Given the description of an element on the screen output the (x, y) to click on. 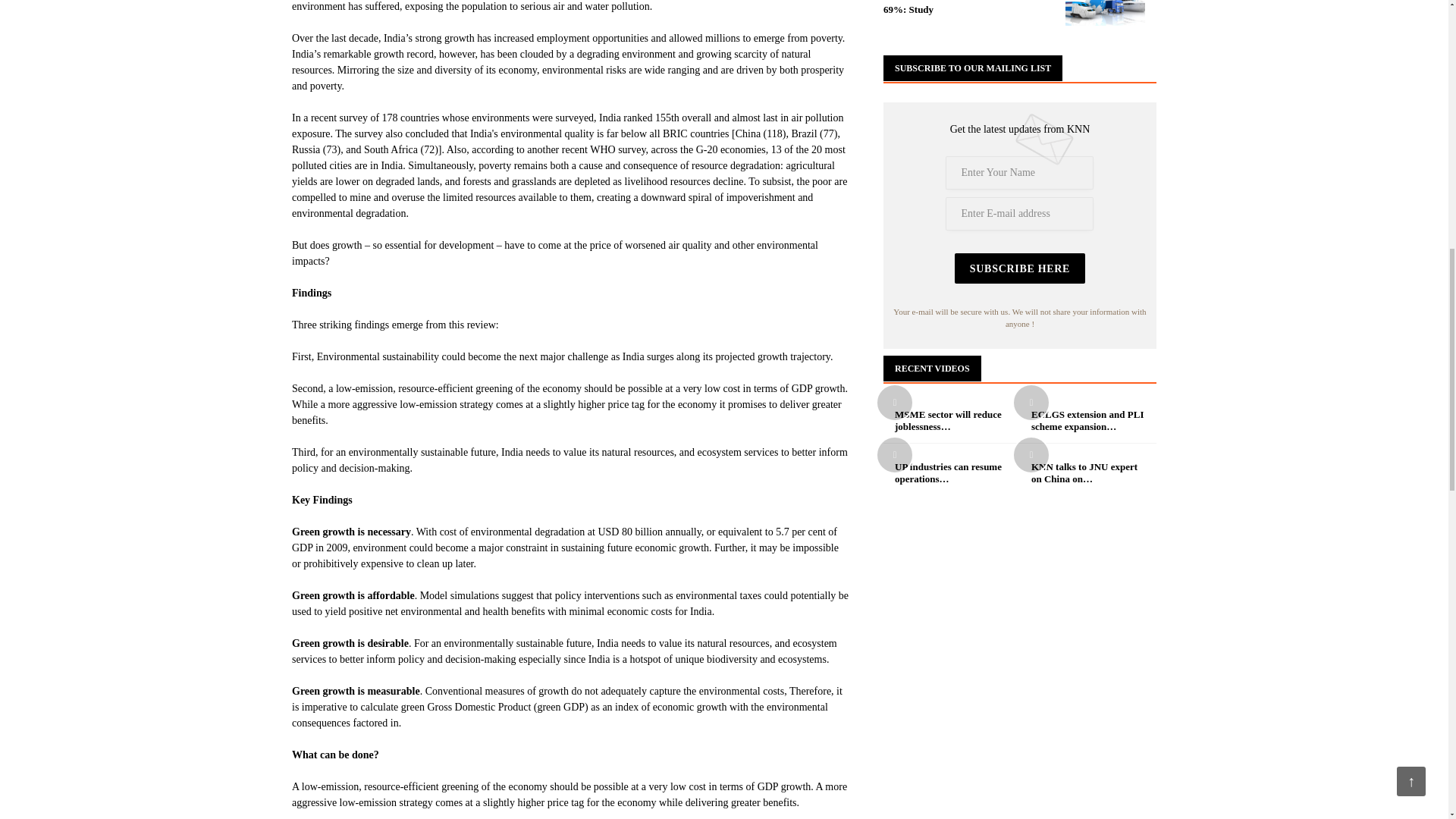
Subscribe here (1019, 268)
